Given the description of an element on the screen output the (x, y) to click on. 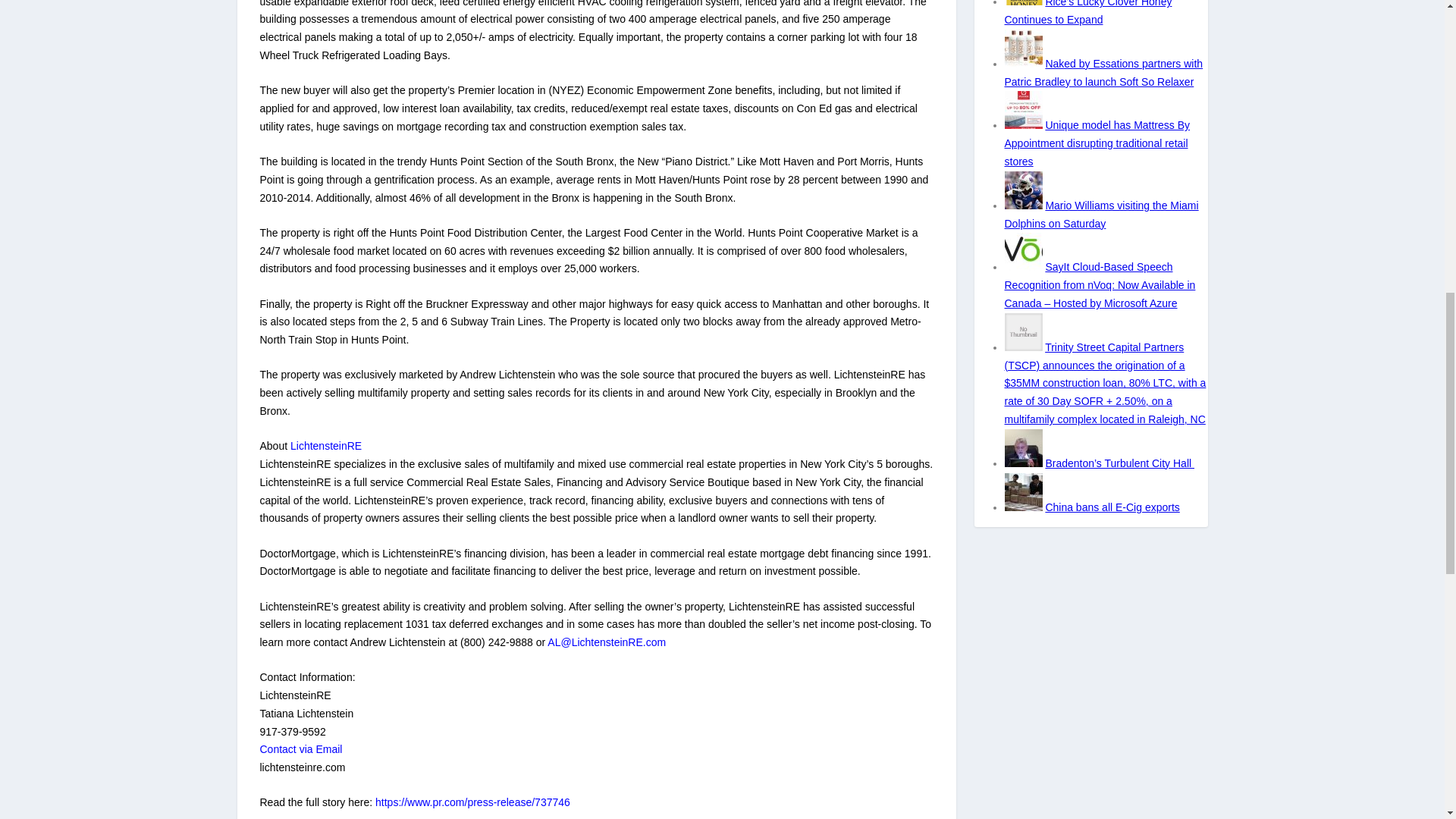
LichtensteinRE (325, 445)
Contact via Email (300, 748)
